Given the description of an element on the screen output the (x, y) to click on. 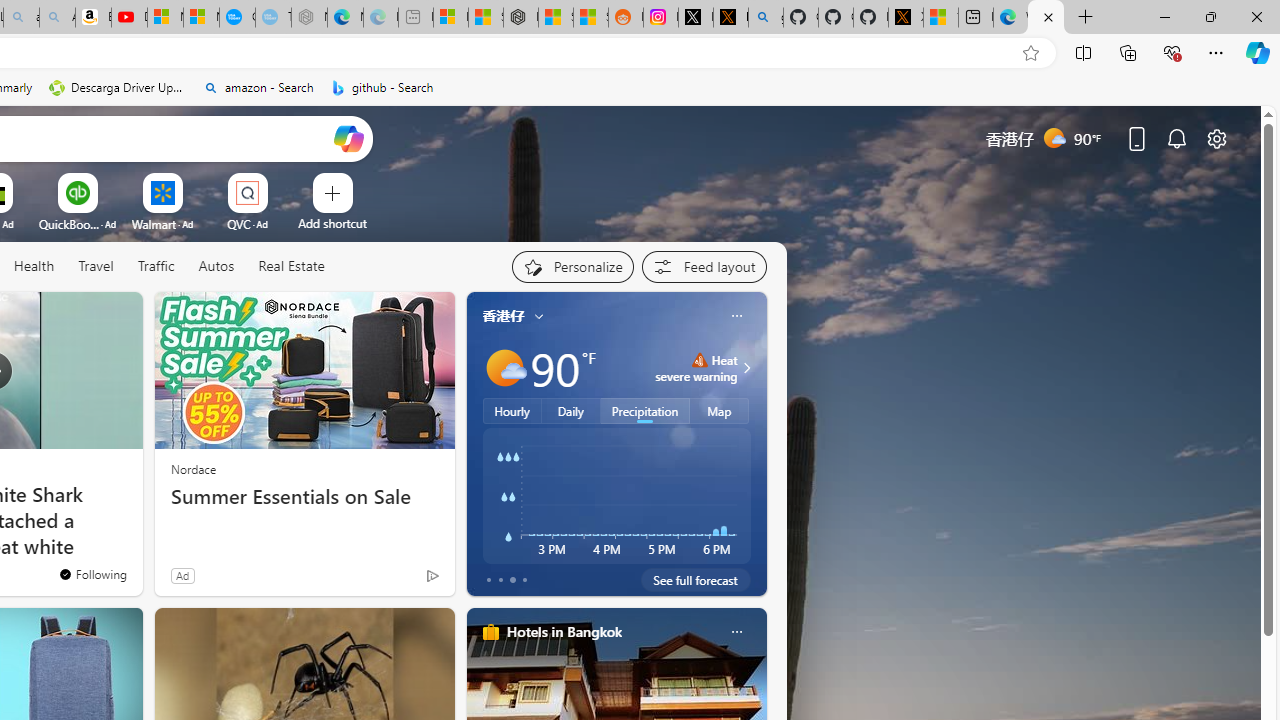
Shanghai, China Weather trends | Microsoft Weather (590, 17)
Amazon Echo Dot PNG - Search Images - Sleeping (57, 17)
Hotels in Bangkok (563, 631)
Nordace - Duffels (520, 17)
X Privacy Policy (905, 17)
hotels-header-icon (490, 632)
